Given the description of an element on the screen output the (x, y) to click on. 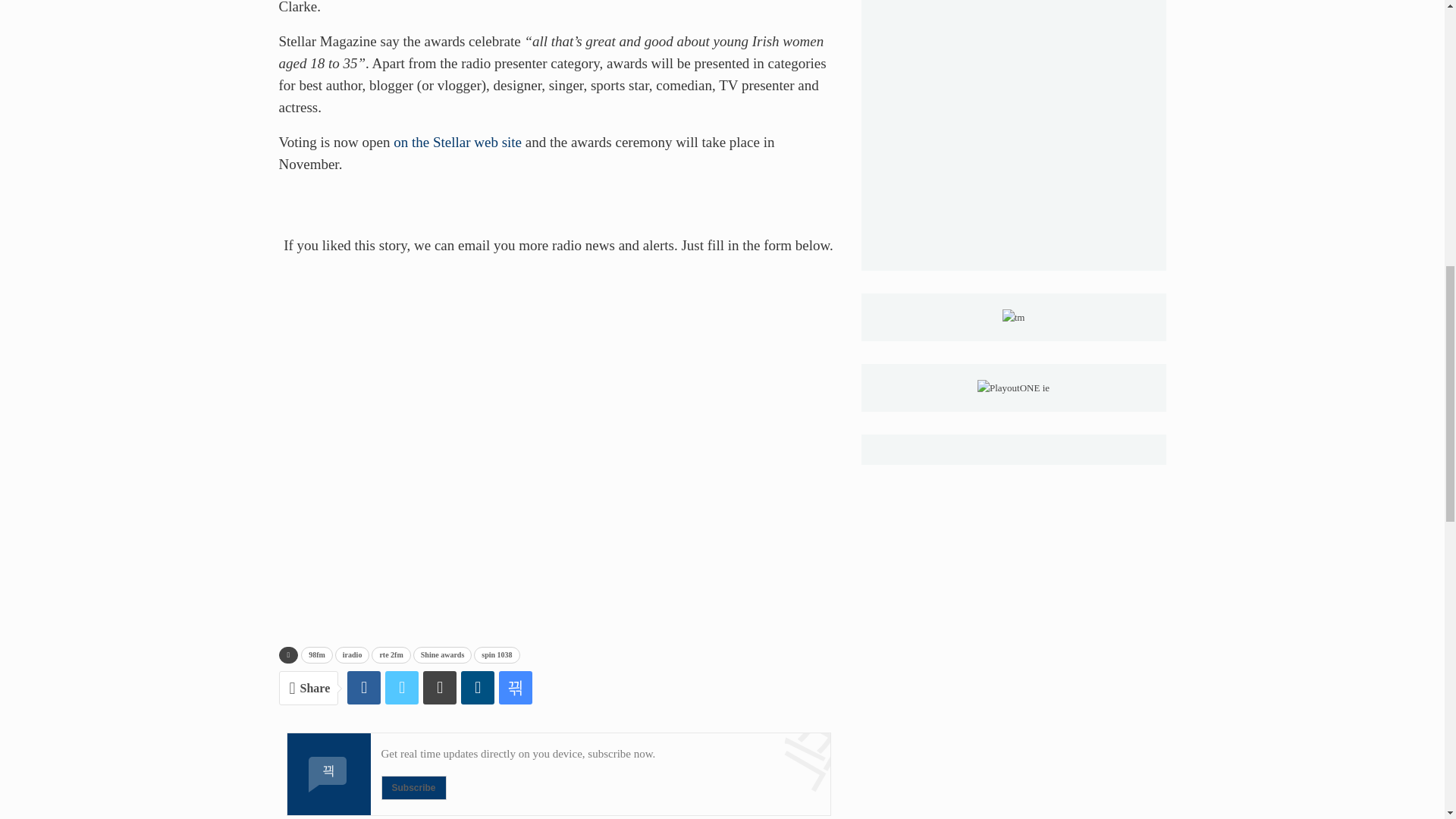
98fm (317, 655)
on the Stellar web site (457, 141)
spin 1038 (496, 655)
iradio (351, 655)
rte 2fm (390, 655)
Shine awards (442, 655)
